Given the description of an element on the screen output the (x, y) to click on. 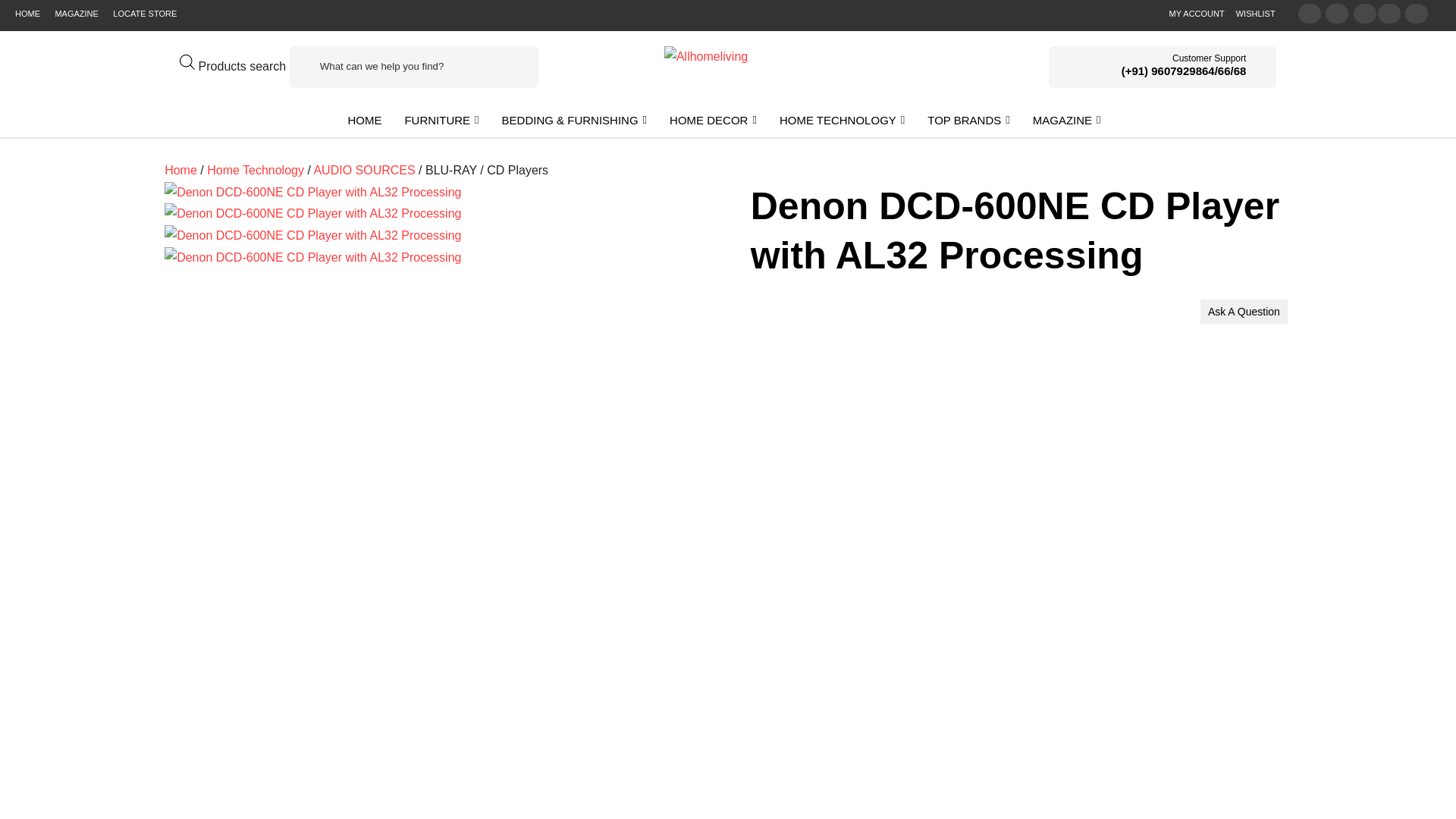
FURNITURE (441, 120)
HOME (27, 13)
WISHLIST (1255, 13)
Facebook (1336, 13)
MAGAZINE (75, 13)
Denon DCD-600NE CD Player with AL32 Processing (312, 192)
Twitter (1309, 13)
HOME (363, 120)
MY ACCOUNT (1197, 13)
Denon DCD-600NE CD Player with AL32 Processing (312, 258)
YouTube (1388, 13)
Pinterest (1364, 13)
Denon DCD-600NE CD Player with AL32 Processing (312, 214)
Allhomeliving (705, 56)
Denon DCD-600NE CD Player with AL32 Processing (312, 236)
